Given the description of an element on the screen output the (x, y) to click on. 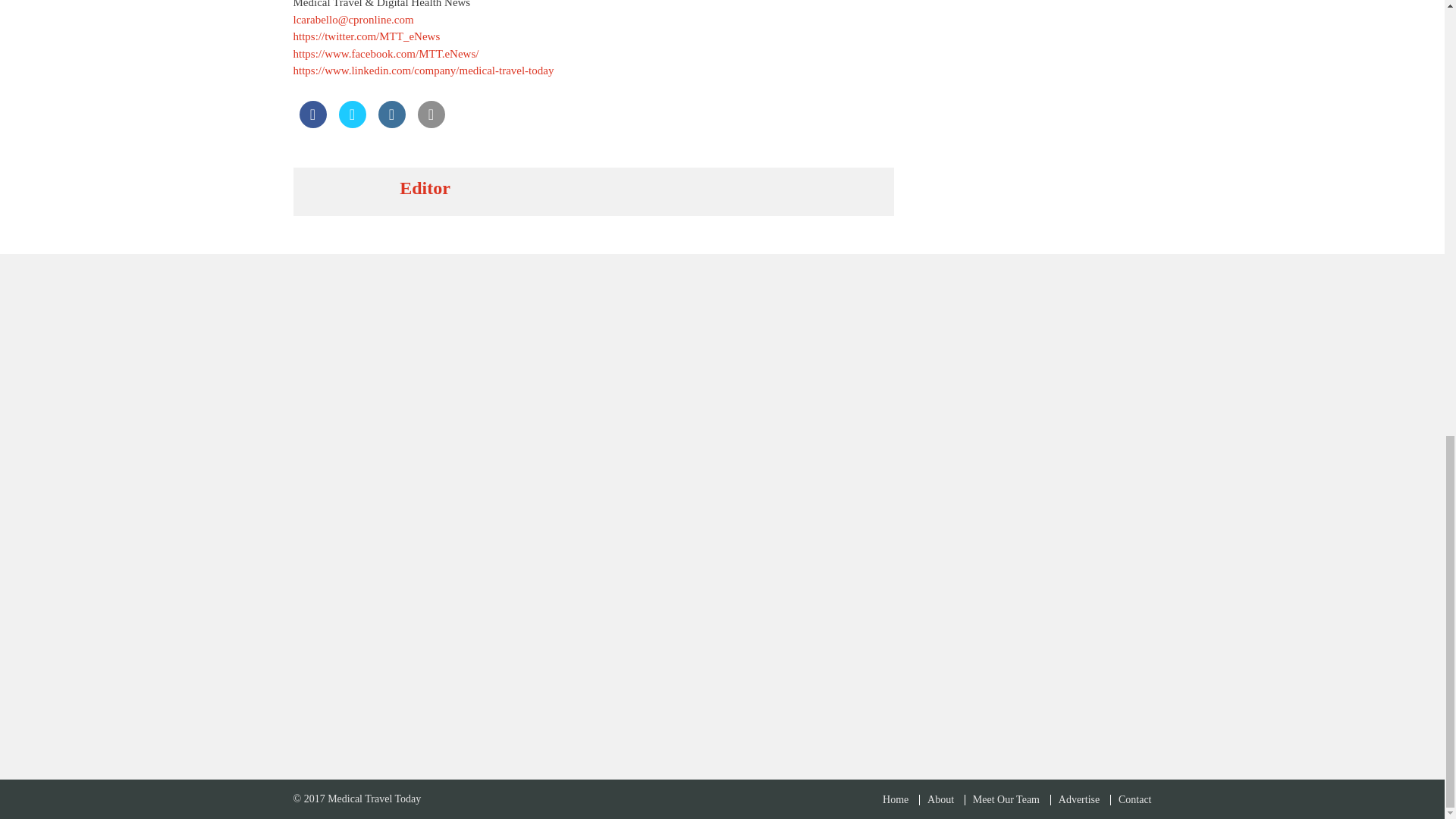
Share on LinkedIn (390, 123)
Share on Facebook (312, 123)
Share it on Email (430, 123)
Share on Twitter (351, 123)
Editor (423, 188)
